Given the description of an element on the screen output the (x, y) to click on. 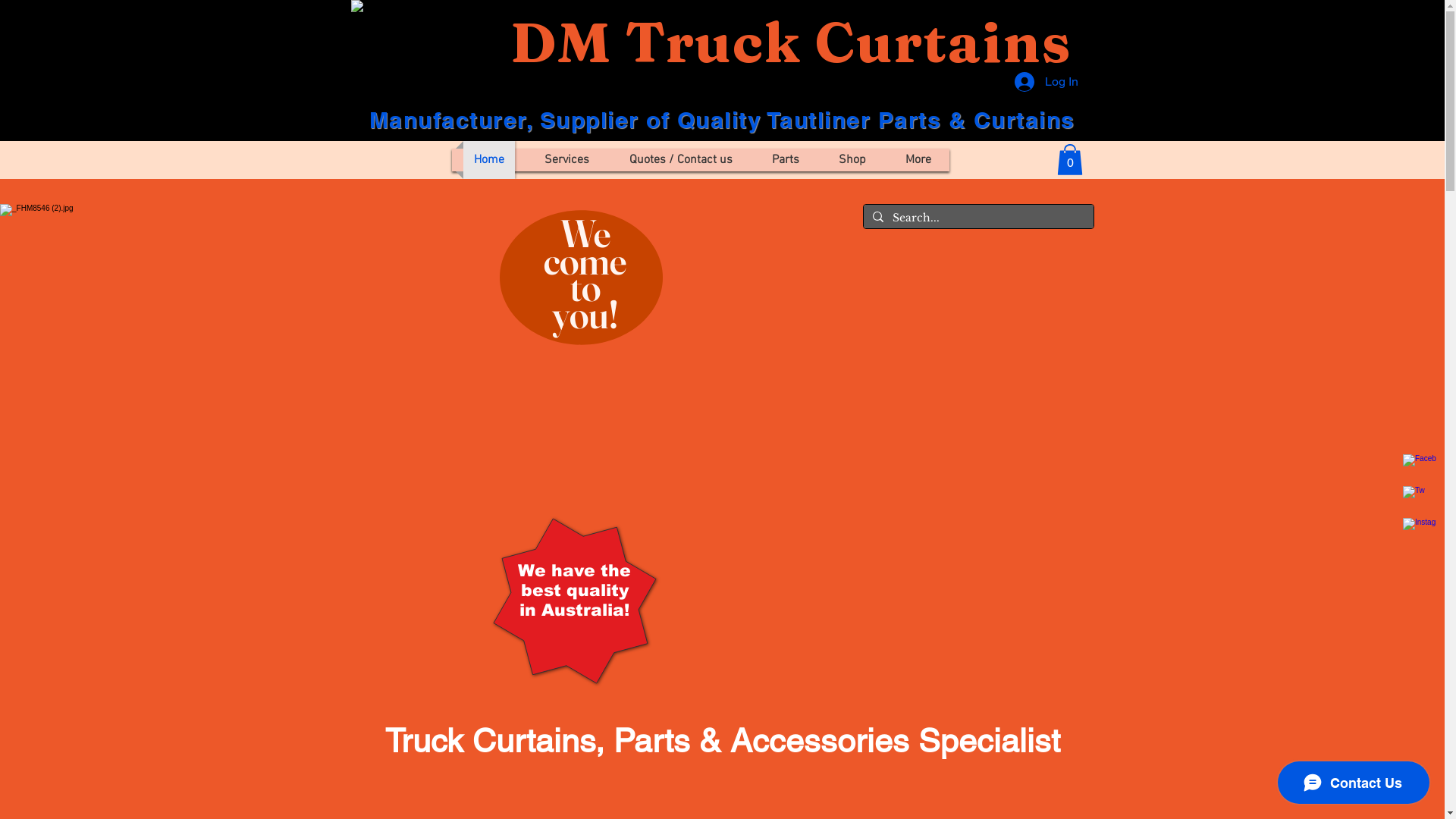
0 Element type: text (1069, 159)
Services Element type: text (566, 159)
DM Truck Curtains Element type: text (790, 41)
Quotes / Contact us Element type: text (680, 159)
Parts Element type: text (784, 159)
Log In Element type: text (1046, 81)
Shop Element type: text (851, 159)
Home Element type: text (488, 159)
